Given the description of an element on the screen output the (x, y) to click on. 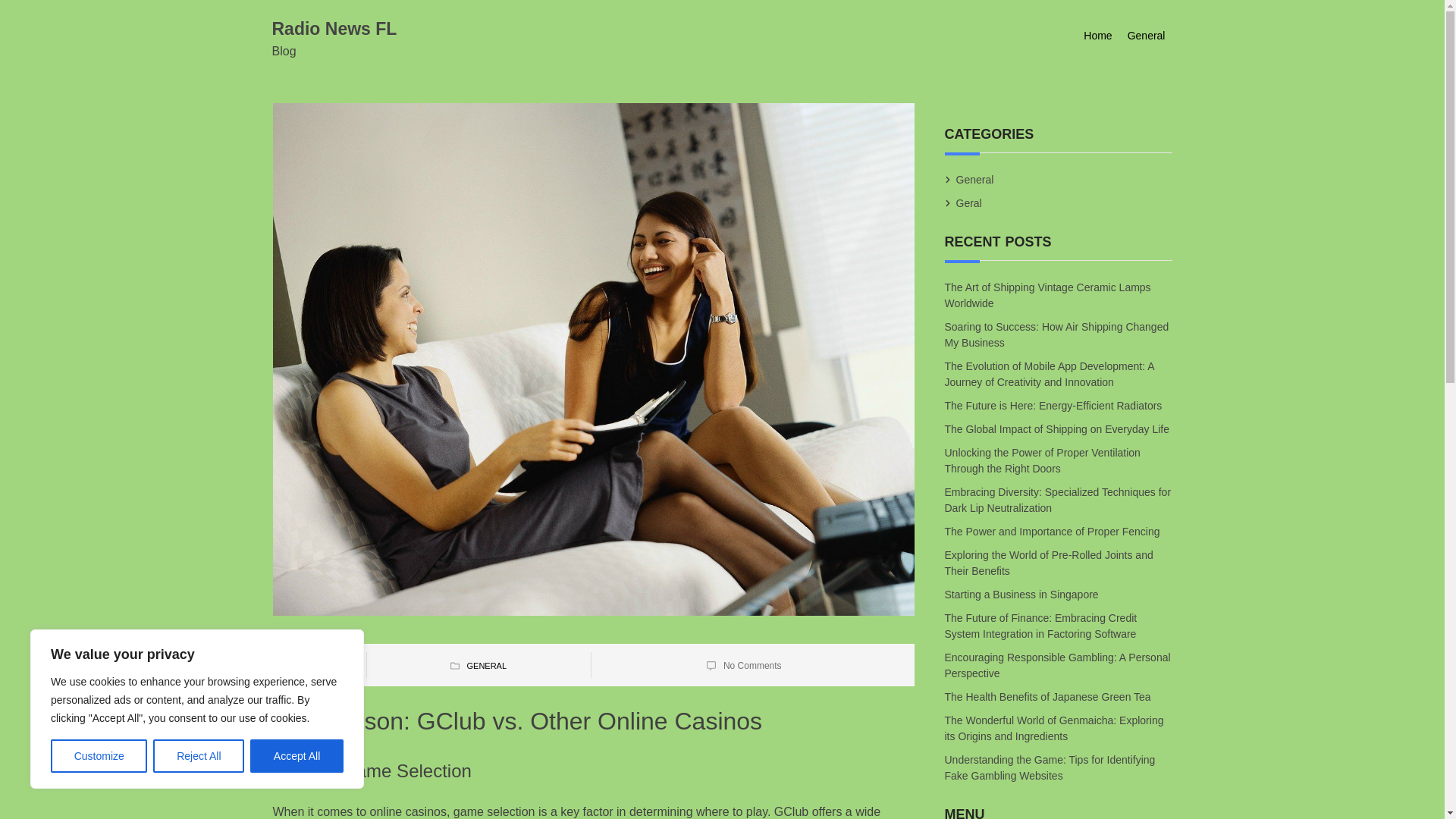
Customize (98, 756)
Home (1097, 35)
The Future is Here: Energy-Efficient Radiators (1053, 404)
No Comments (752, 665)
General (1146, 35)
The Global Impact of Shipping on Everyday Life (1058, 429)
The Art of Shipping Vintage Ceramic Lamps Worldwide (1047, 295)
Accept All (296, 756)
Geral (968, 203)
General (974, 179)
GENERAL (485, 665)
Radio News FL (333, 28)
